Given the description of an element on the screen output the (x, y) to click on. 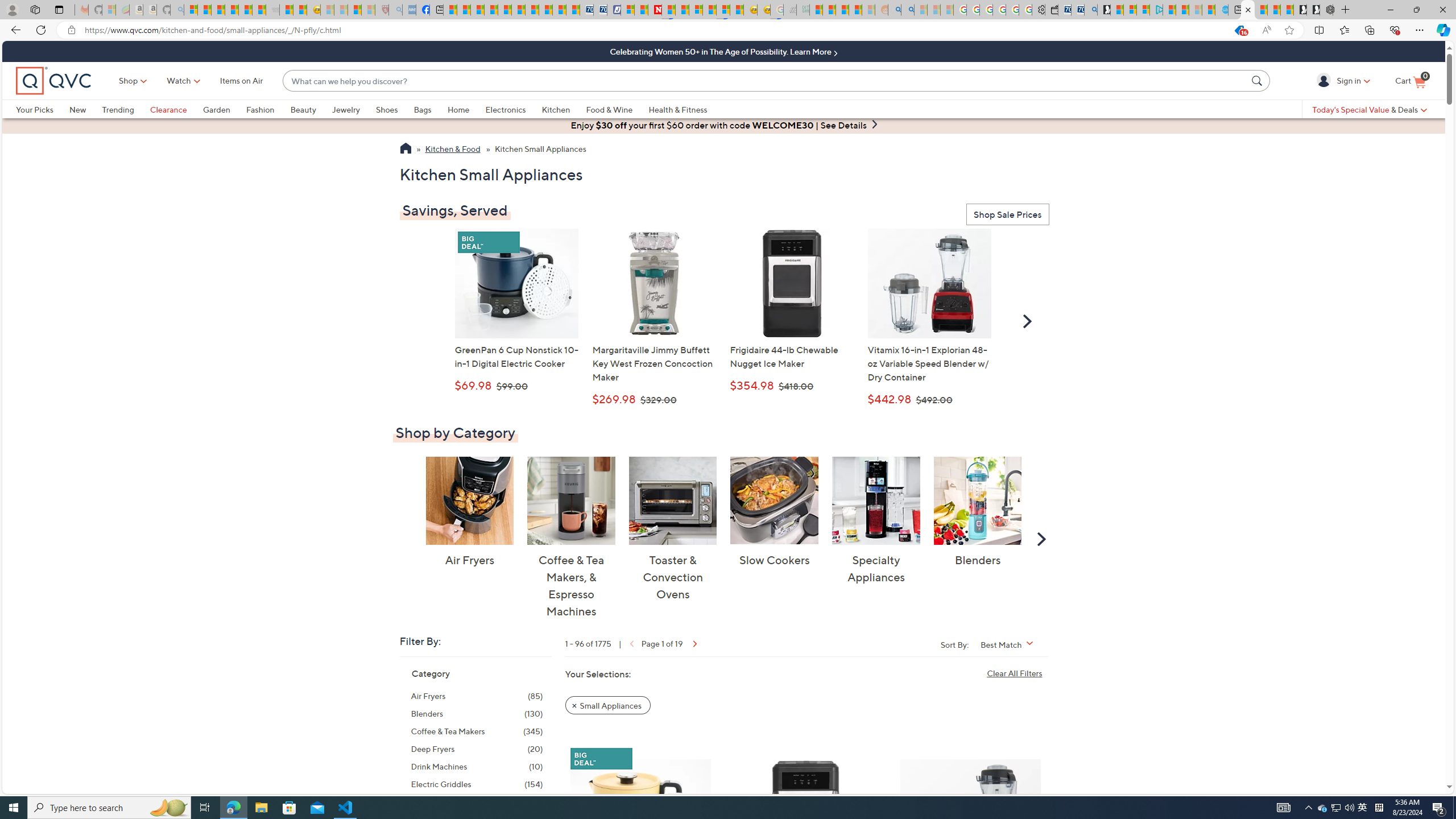
Clearance (175, 109)
Beauty (310, 109)
Drink Machines, 10 items (476, 766)
New (84, 109)
Toaster & Convection Ovens (672, 500)
Celebrating Women 50+ in The Age of Possibility. Learn More (723, 51)
The Weather Channel - MSN (218, 9)
